Given the description of an element on the screen output the (x, y) to click on. 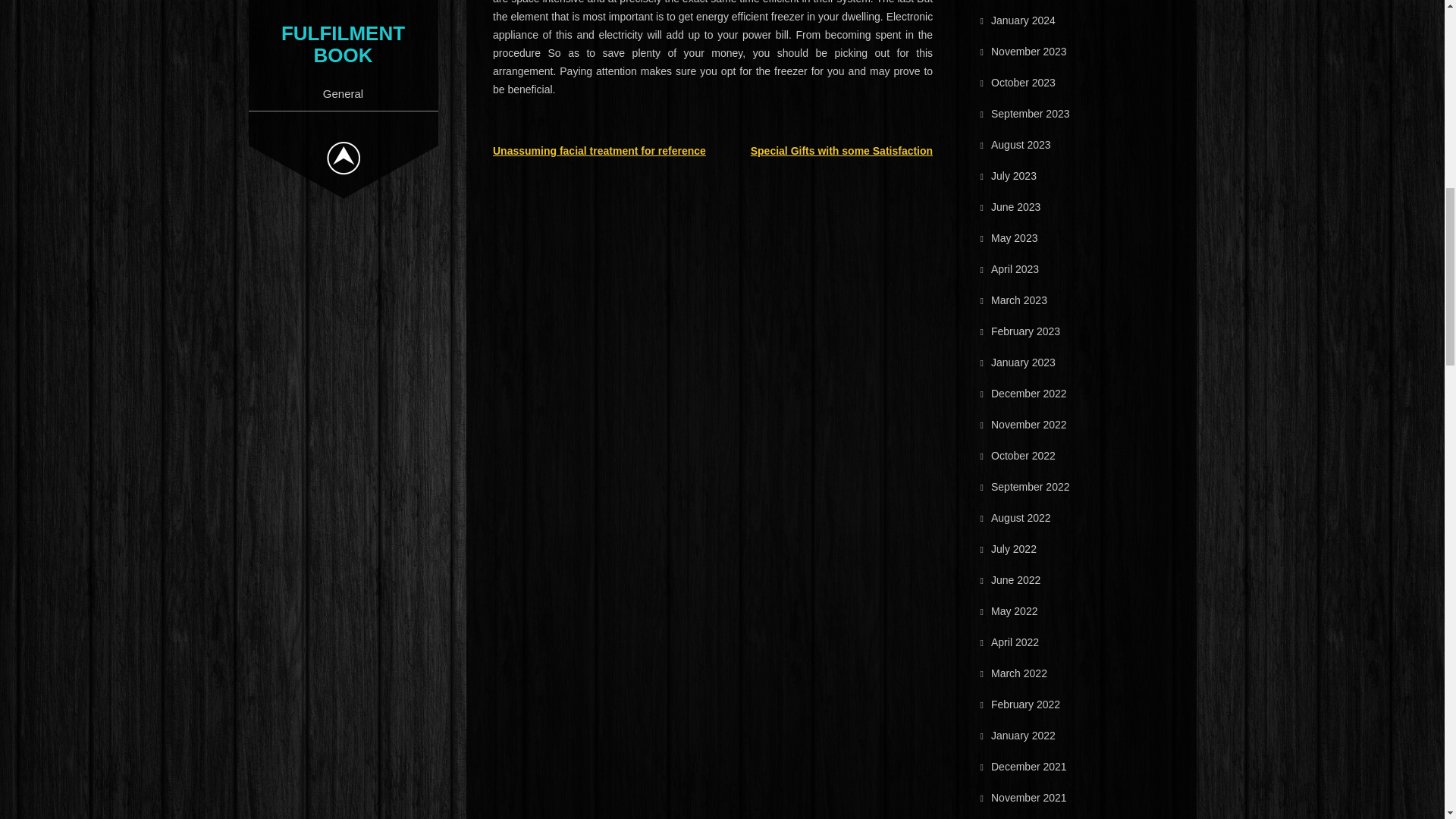
November 2023 (1029, 51)
September 2023 (1030, 113)
November 2021 (1029, 797)
November 2022 (1029, 424)
June 2022 (1016, 580)
February 2023 (1025, 331)
January 2023 (1023, 362)
March 2022 (1018, 673)
May 2022 (1013, 611)
May 2023 (1013, 237)
February 2022 (1025, 704)
Special Gifts with some Satisfaction (842, 150)
January 2022 (1023, 735)
September 2022 (1030, 486)
July 2023 (1013, 175)
